Given the description of an element on the screen output the (x, y) to click on. 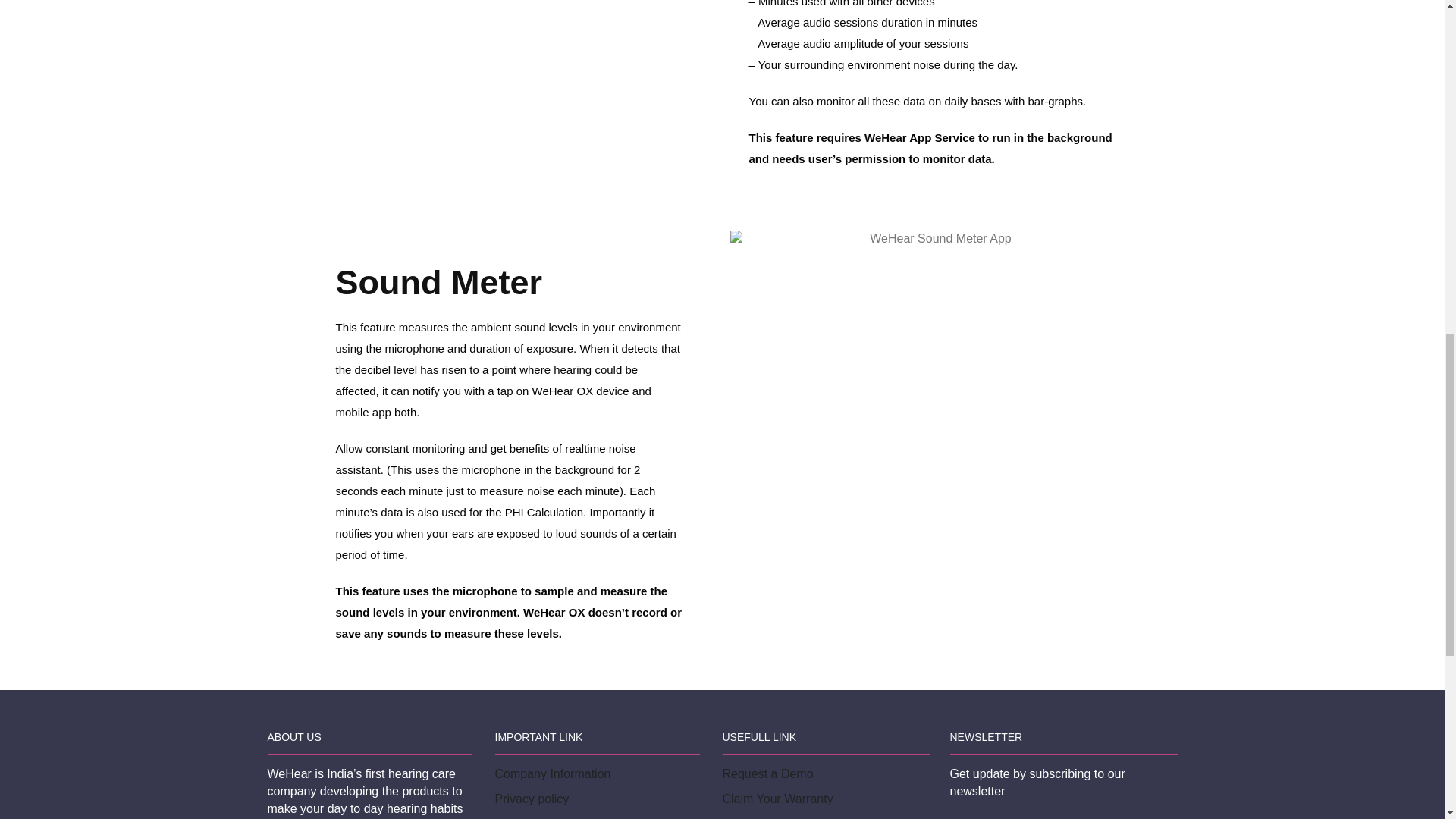
Privacy policy (532, 798)
PHI 2 (509, 12)
Company Information (552, 773)
Request a Demo (767, 773)
Returns and refunds (549, 818)
